Given the description of an element on the screen output the (x, y) to click on. 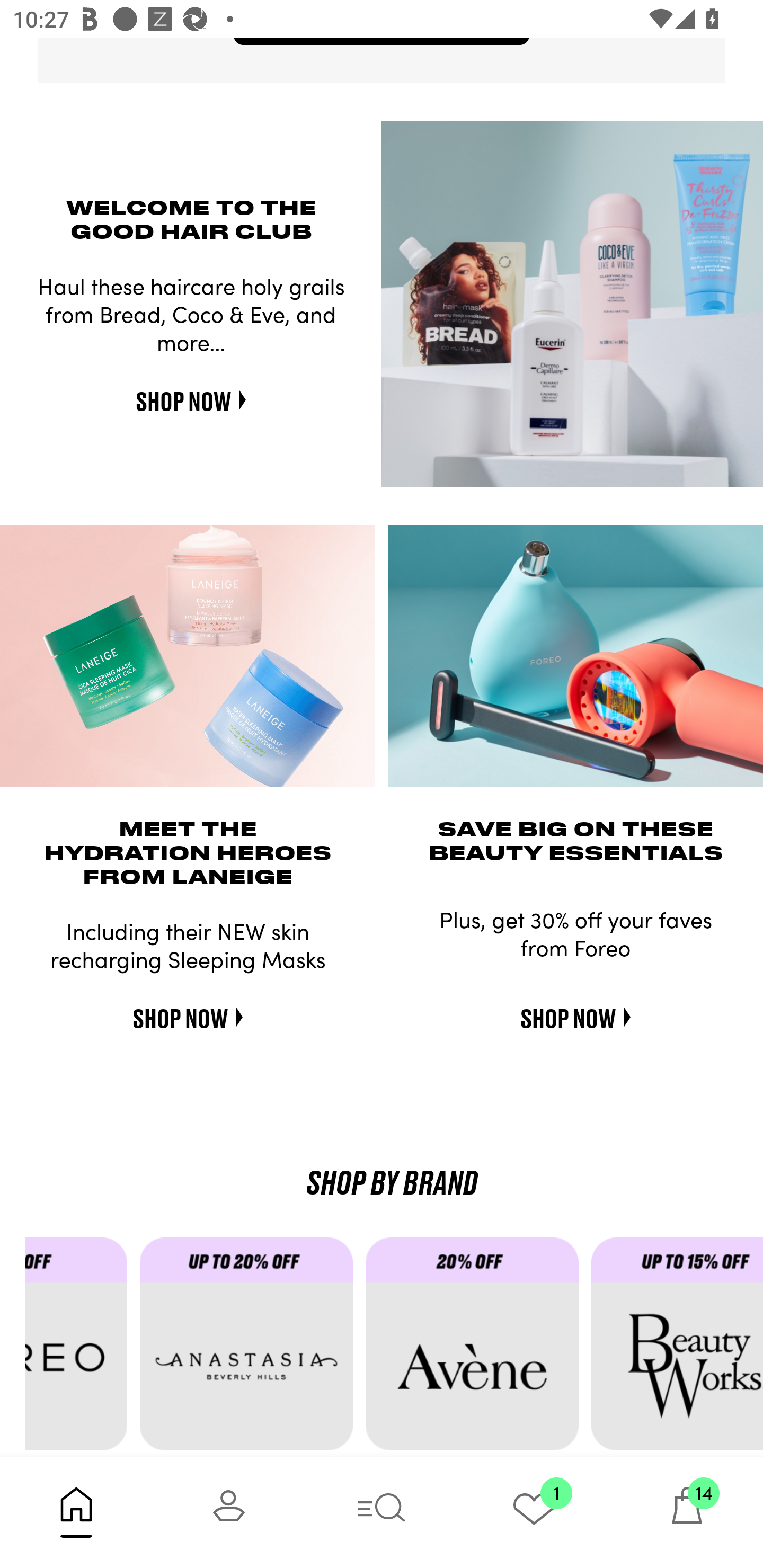
1 (533, 1512)
14 (686, 1512)
